Given the description of an element on the screen output the (x, y) to click on. 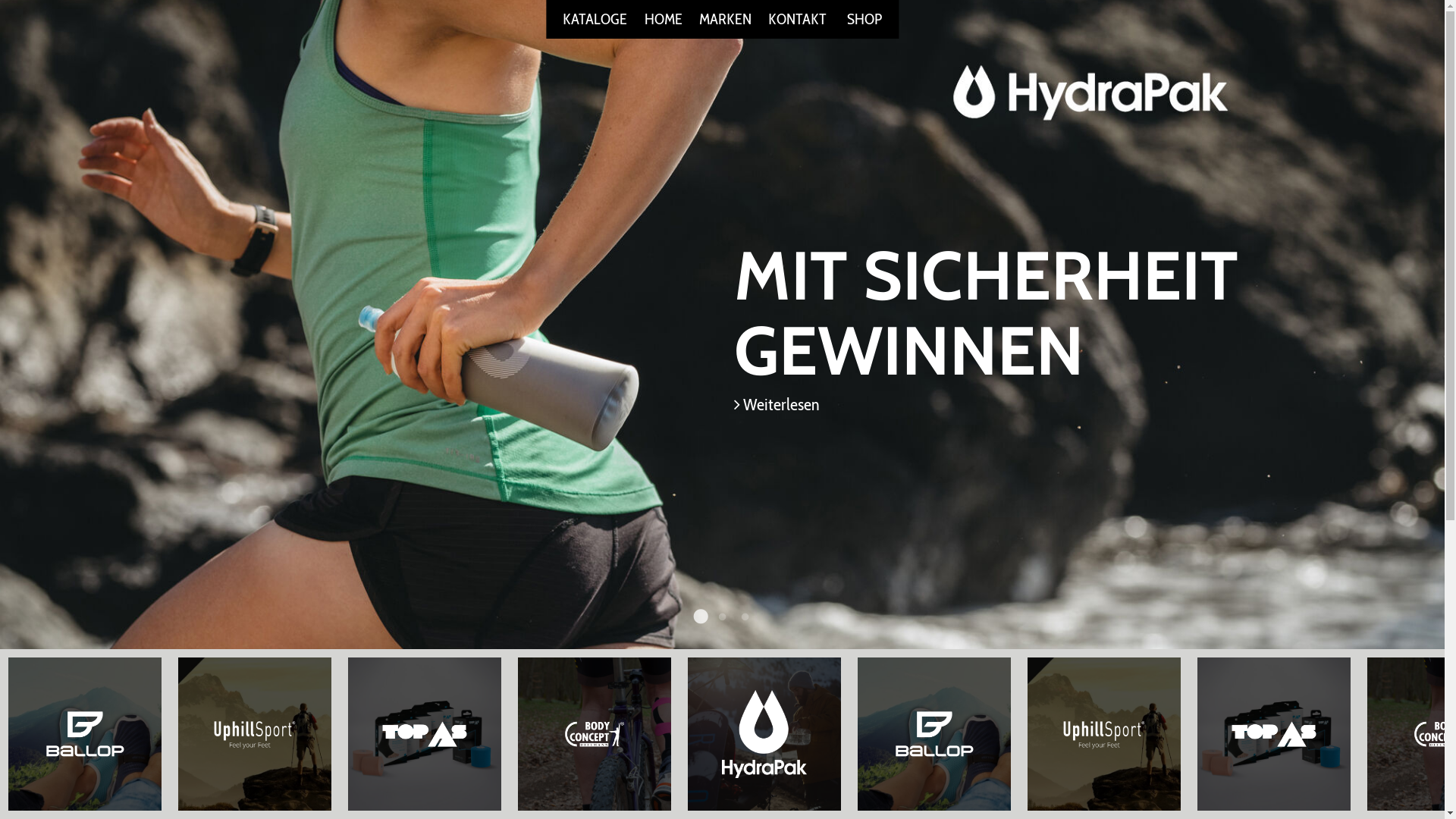
KATALOGE Element type: text (594, 18)
2 Element type: text (721, 616)
SHOP Element type: text (864, 18)
MARKEN Element type: text (725, 18)
HOME Element type: text (663, 18)
1 Element type: text (698, 616)
3 Element type: text (744, 616)
Weiterlesen Element type: text (776, 403)
KONTAKT Element type: text (797, 18)
